Given the description of an element on the screen output the (x, y) to click on. 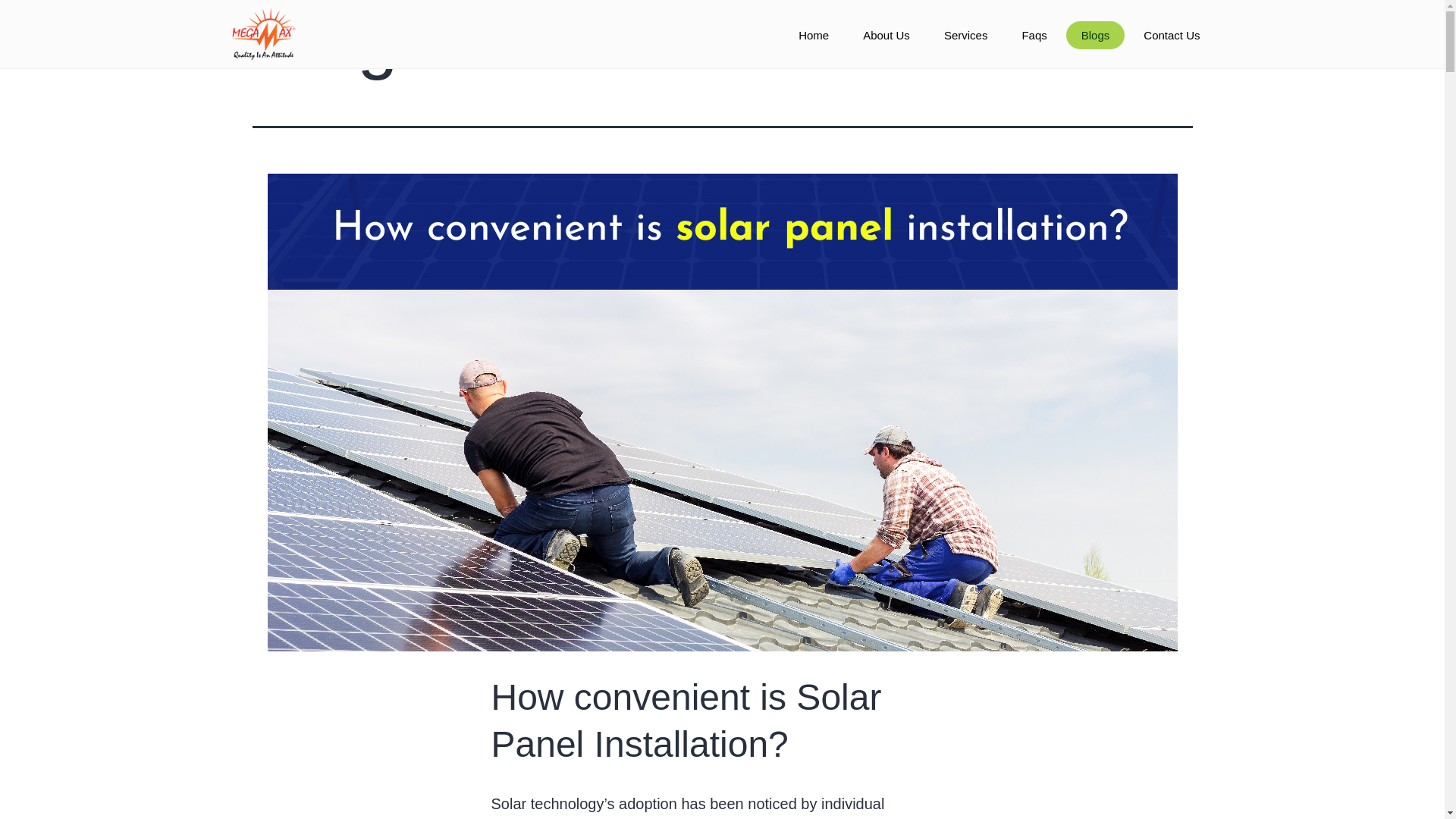
Services (965, 35)
Blogs (1095, 35)
Faqs (1033, 35)
Home (813, 35)
Contact Us (1171, 35)
How convenient is Solar Panel Installation? (687, 720)
About Us (885, 35)
